Given the description of an element on the screen output the (x, y) to click on. 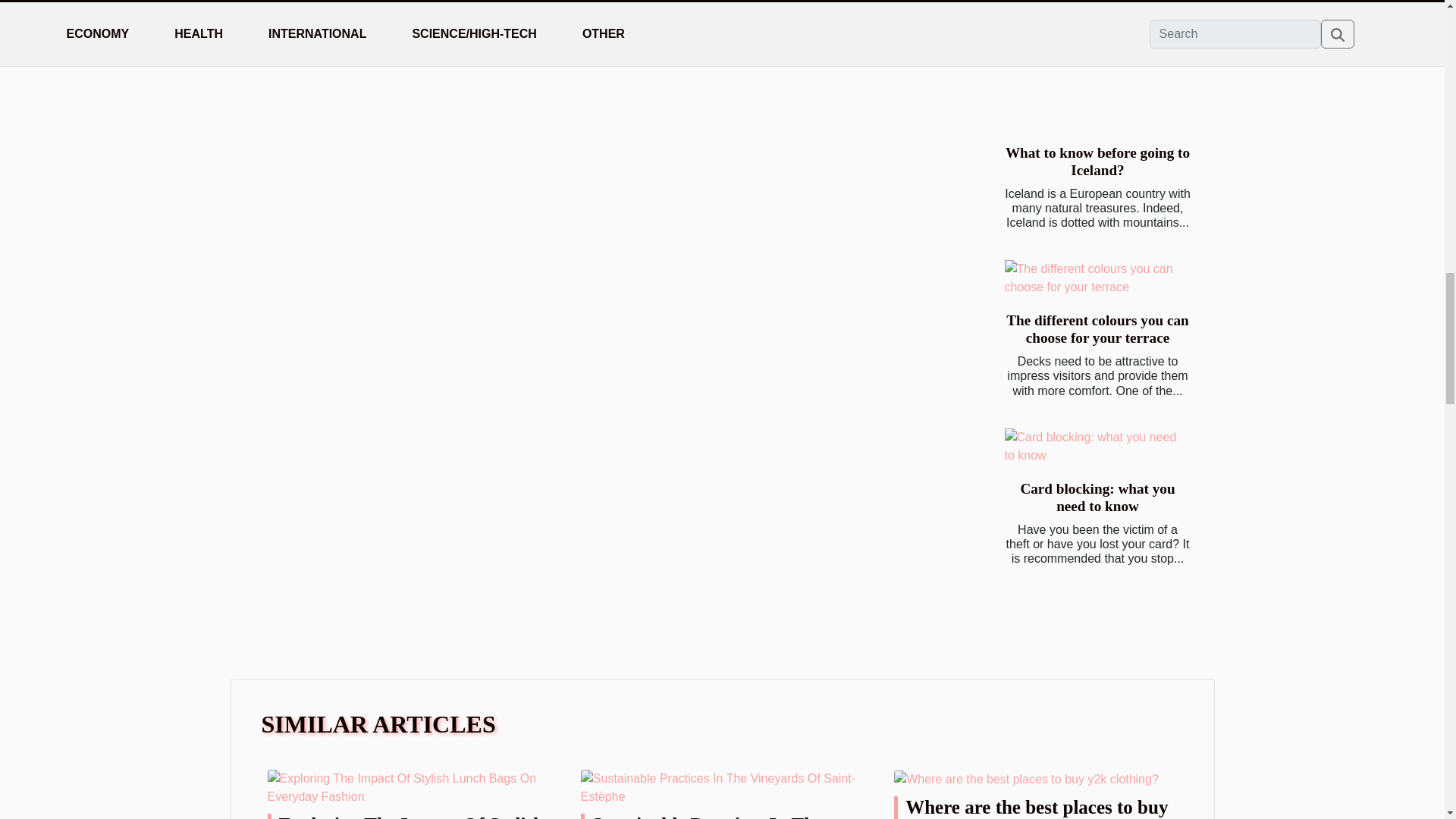
The different colours you can choose for your terrace (1097, 328)
The different colours you can choose for your terrace (1097, 328)
What to know before going to Iceland? (1096, 75)
Where are the best places to buy y2k clothing? (1025, 778)
Card blocking: what you need to know (1097, 497)
What to know before going to Iceland? (1097, 161)
Where are the best places to buy y2k clothing? (1036, 807)
Card blocking: what you need to know (1096, 446)
